Given the description of an element on the screen output the (x, y) to click on. 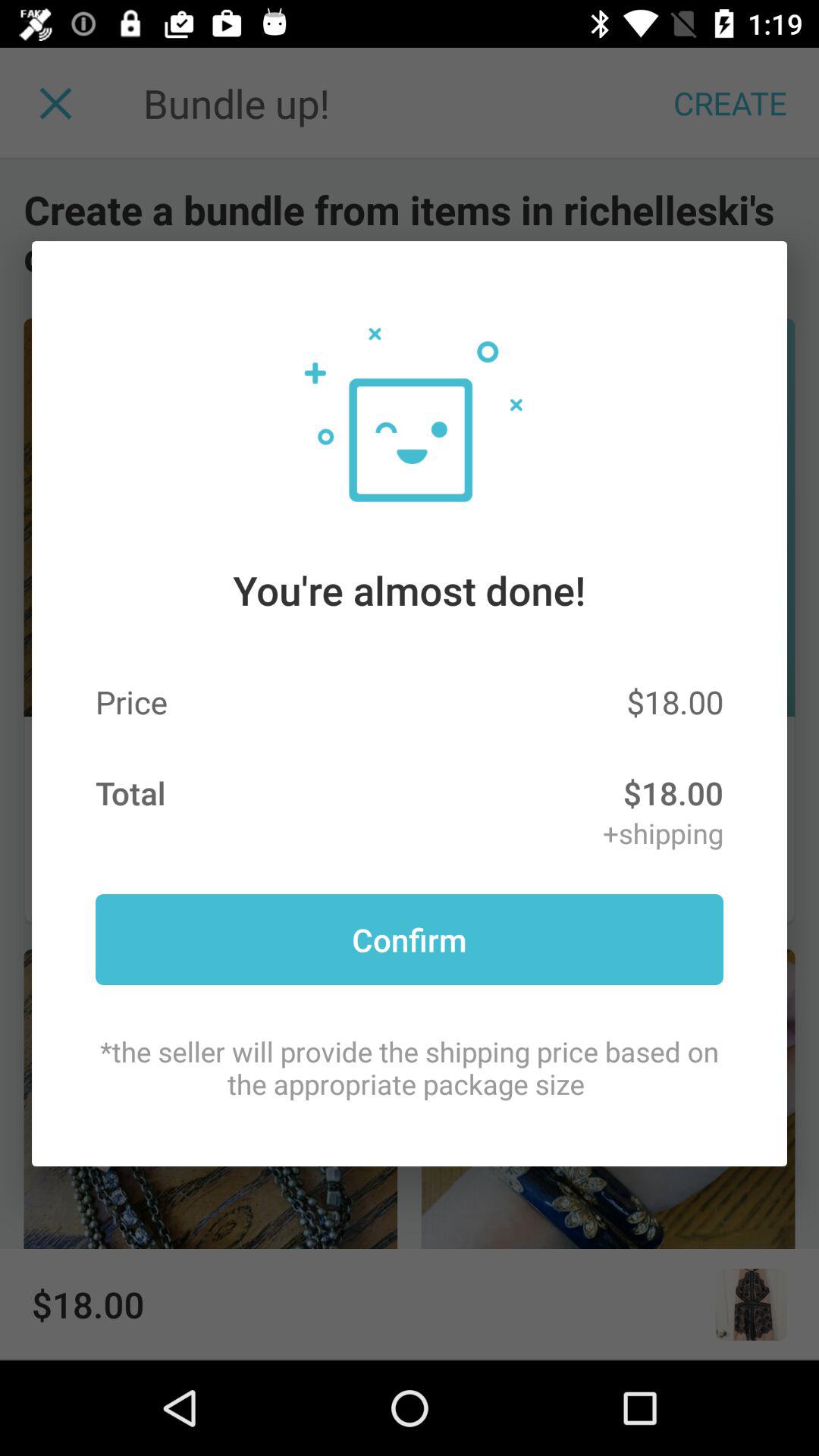
launch the icon above the the seller will icon (409, 939)
